Given the description of an element on the screen output the (x, y) to click on. 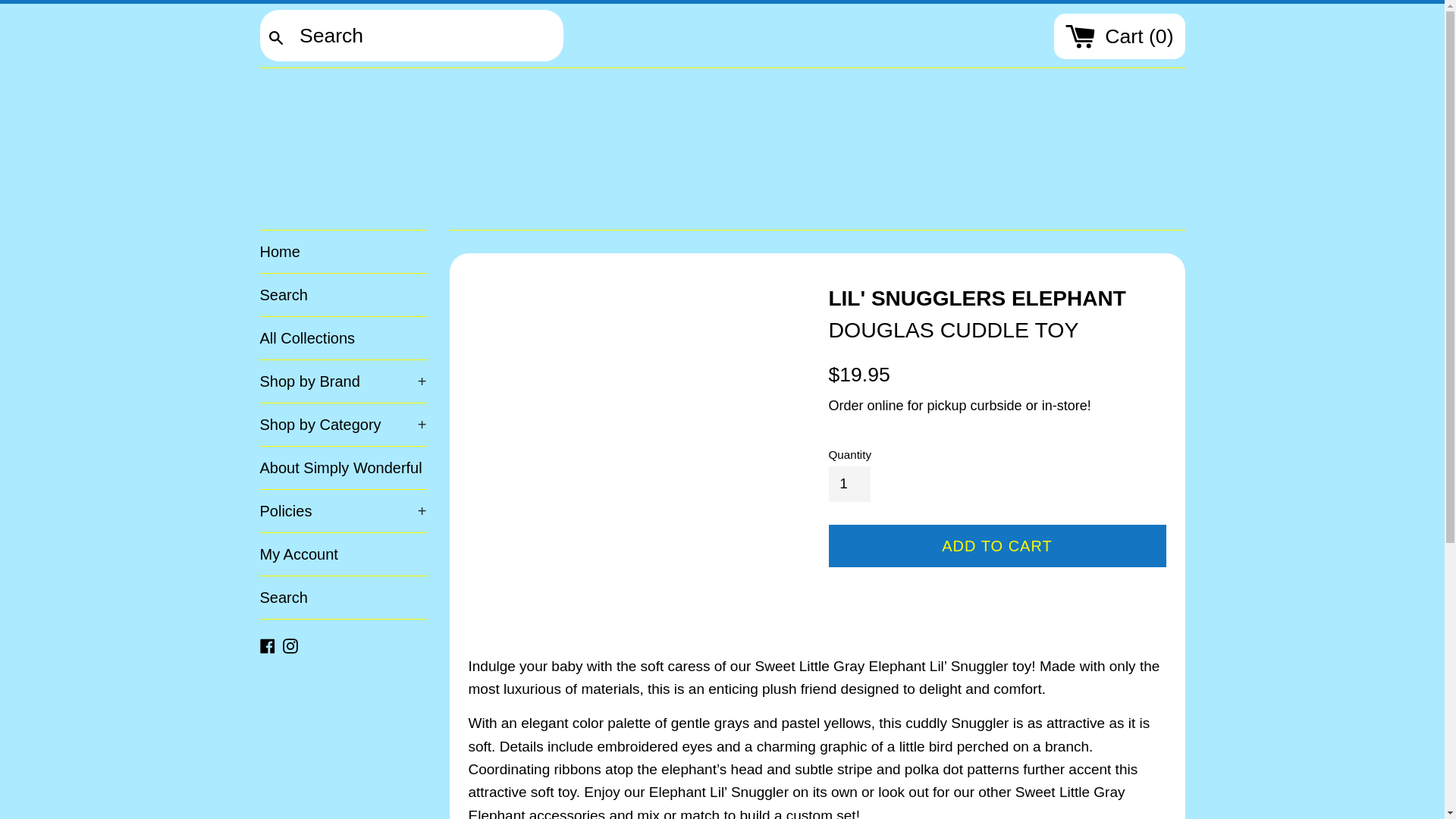
Search (342, 294)
All Collections (342, 337)
1 (848, 483)
Simply Wonderful Toys on Instagram (290, 644)
Search (275, 37)
Simply Wonderful Toys on Facebook (267, 644)
Home (342, 251)
